Given the description of an element on the screen output the (x, y) to click on. 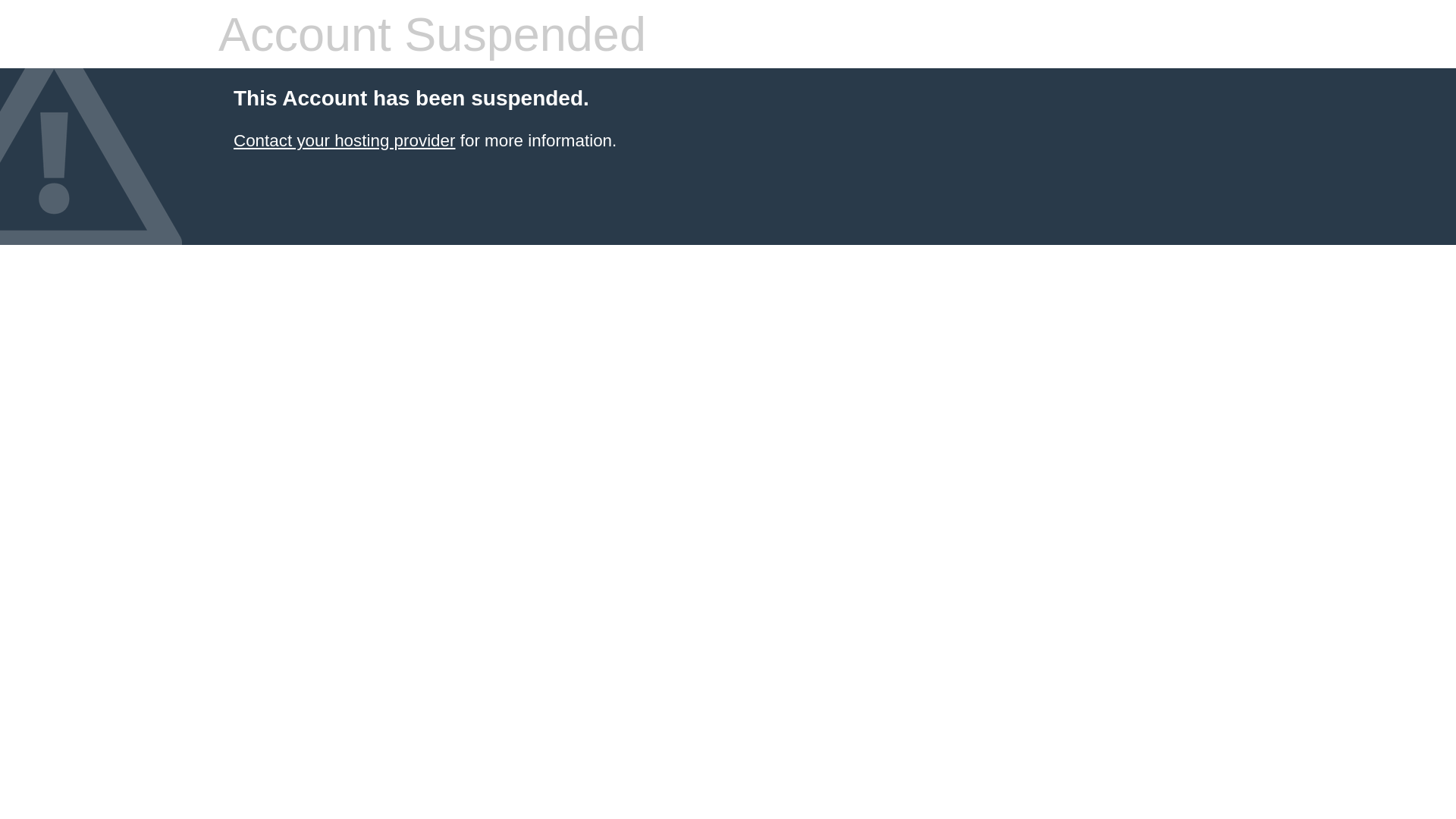
Contact your hosting provider Element type: text (344, 140)
